Given the description of an element on the screen output the (x, y) to click on. 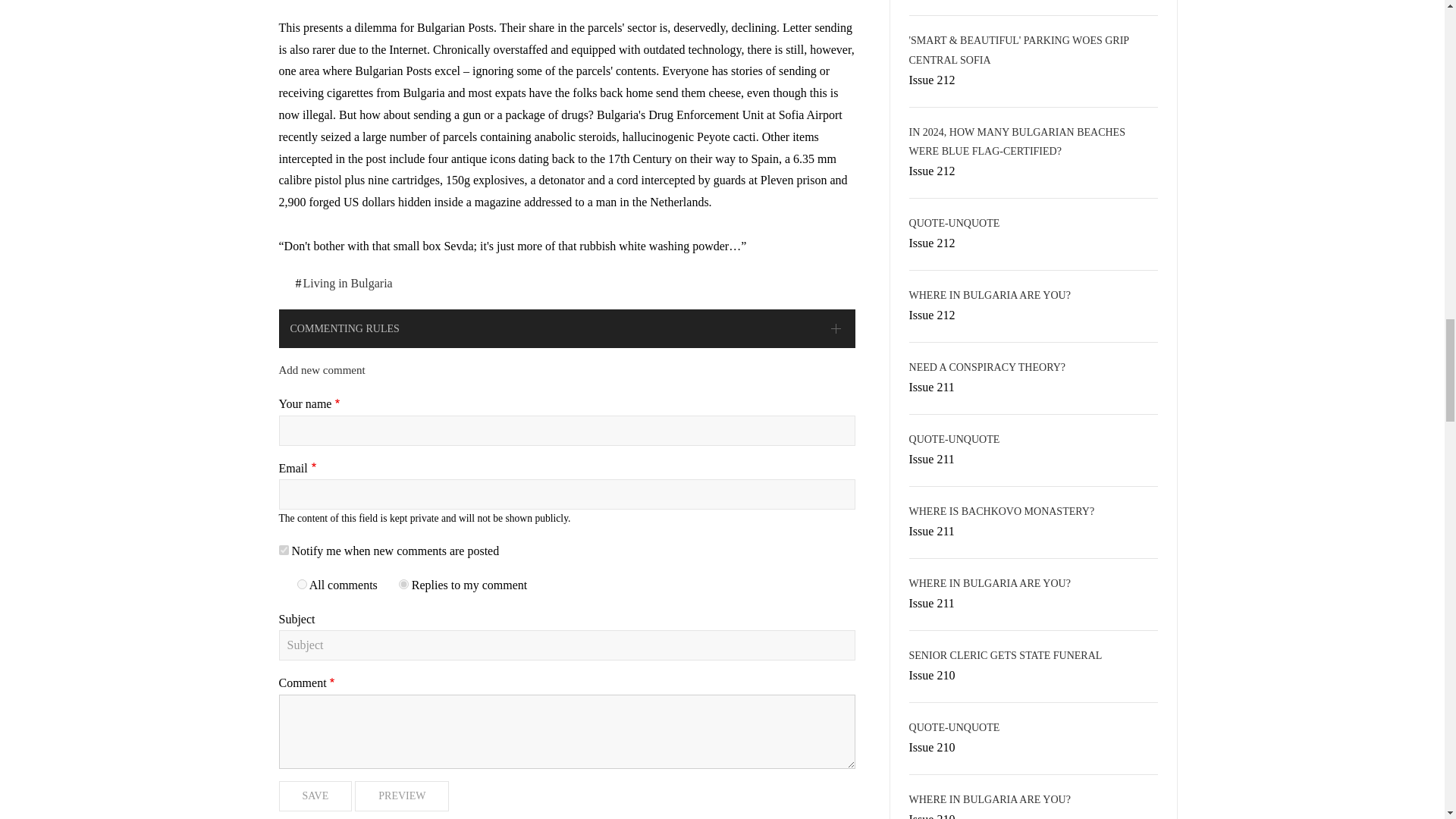
Save (315, 796)
1 (283, 550)
Preview (401, 796)
1 (302, 583)
2 (403, 583)
